Given the description of an element on the screen output the (x, y) to click on. 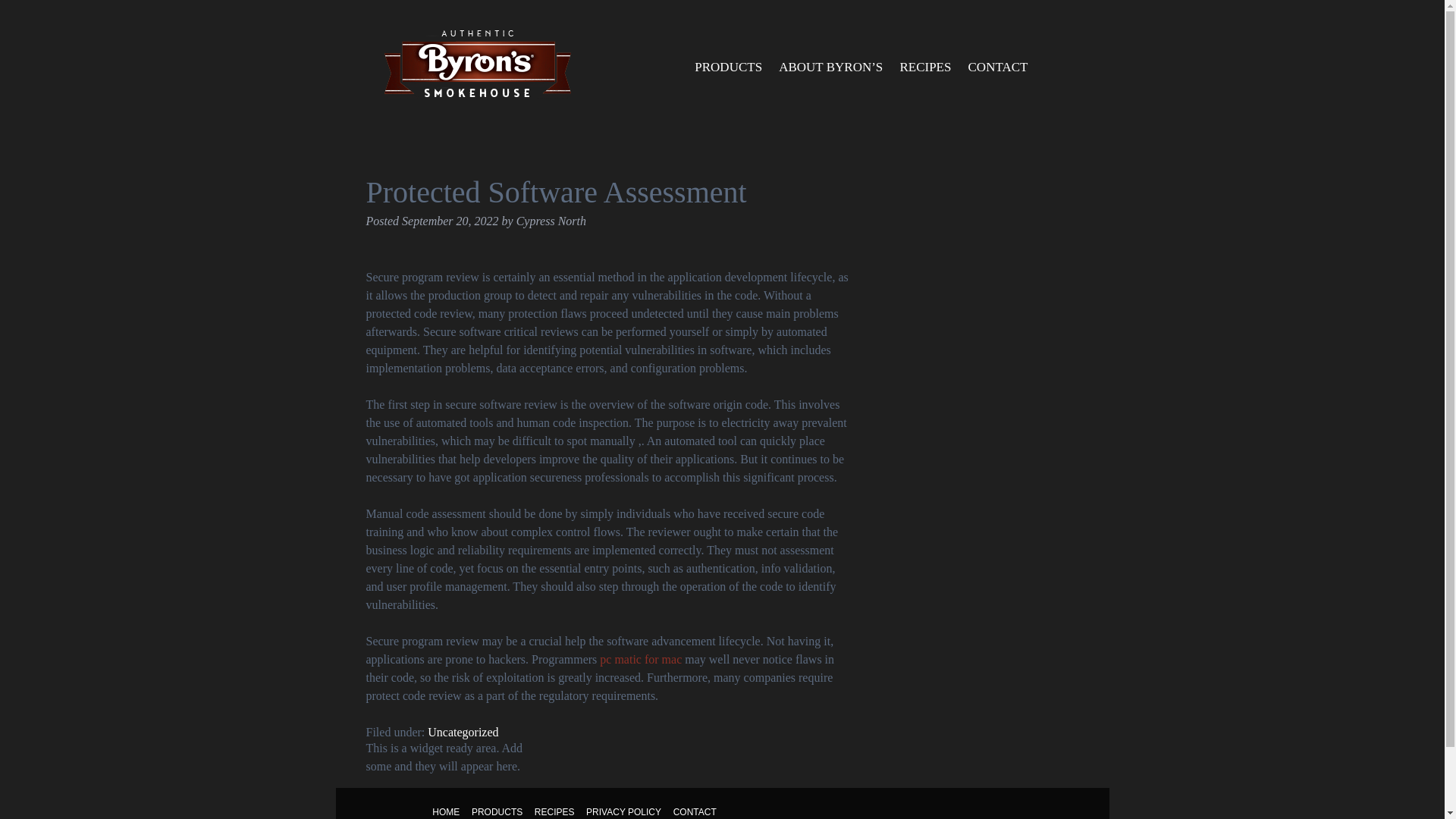
PRODUCTS (496, 809)
CONTACT (997, 67)
PRODUCTS (727, 67)
pc matic for mac (640, 658)
HOME (445, 809)
PRIVACY POLICY (622, 809)
CONTACT (694, 809)
RECIPES (553, 809)
Uncategorized (462, 731)
RECIPES (925, 67)
